Given the description of an element on the screen output the (x, y) to click on. 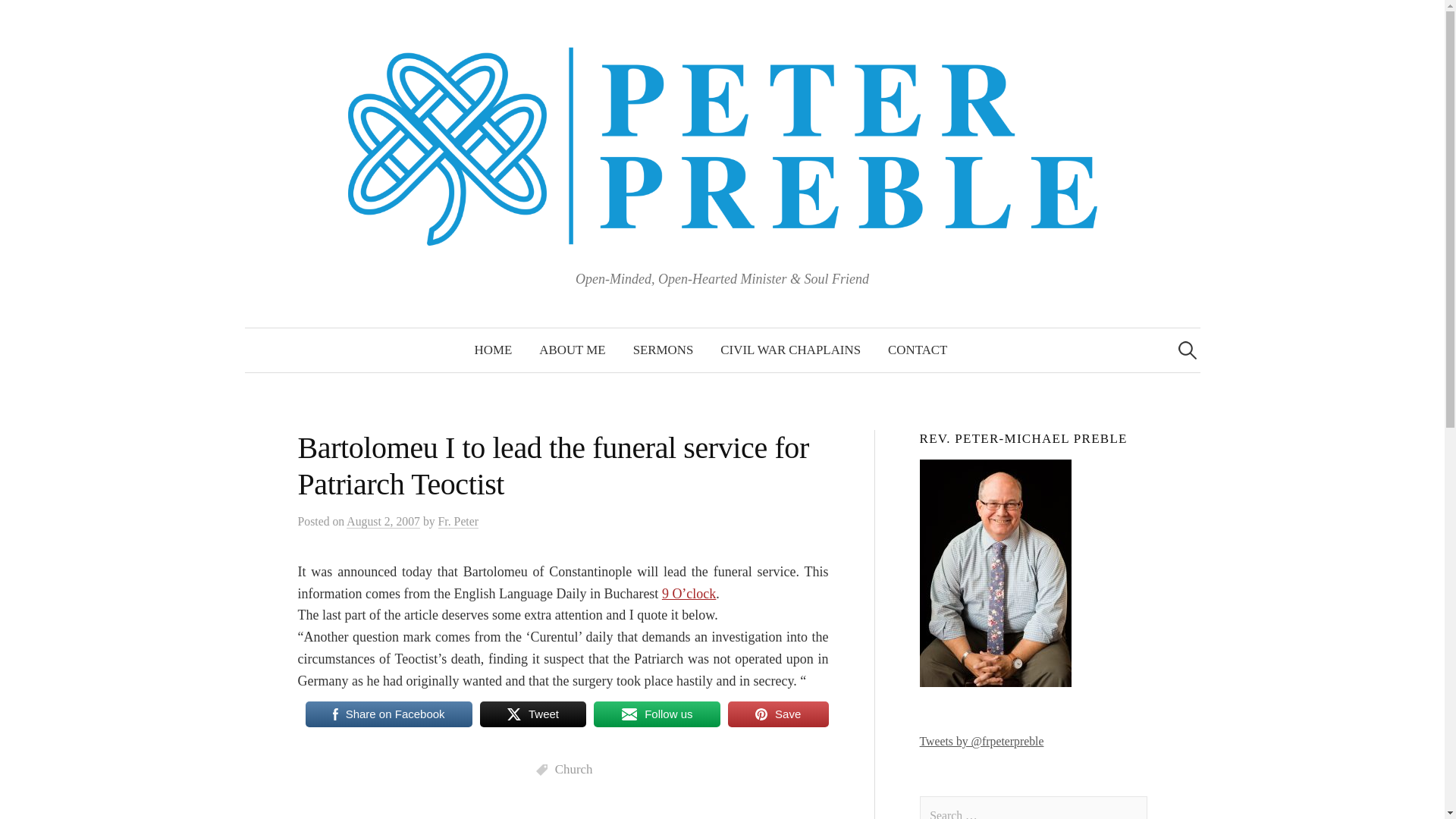
SERMONS (663, 350)
August 2, 2007 (383, 521)
CIVIL WAR CHAPLAINS (790, 350)
Search (18, 18)
Fr. Peter (458, 521)
Follow us (657, 714)
Save (778, 714)
HOME (493, 350)
CONTACT (917, 350)
ABOUT ME (571, 350)
